Given the description of an element on the screen output the (x, y) to click on. 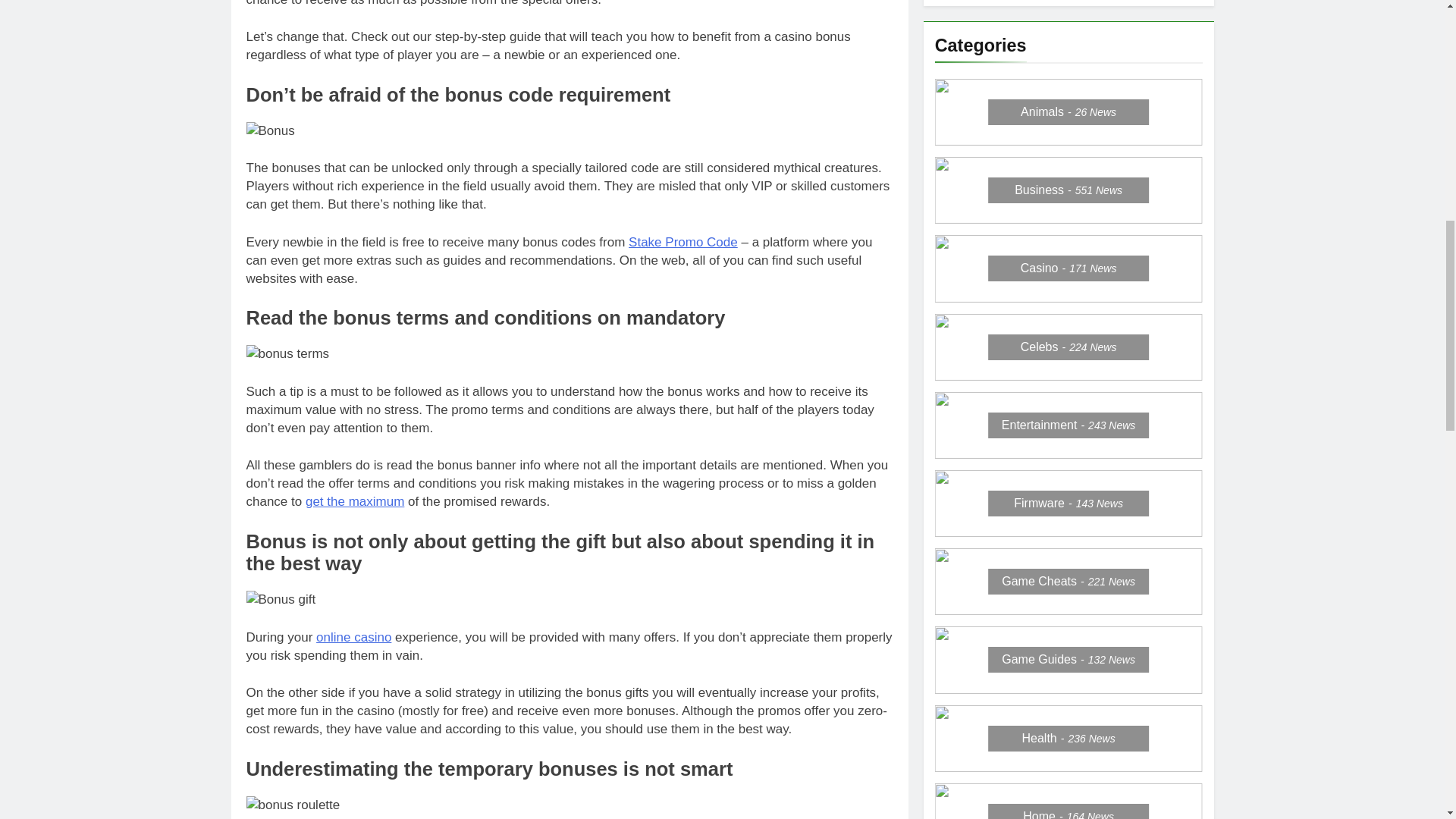
get the maximum (354, 501)
Stake Promo Code (683, 242)
online casino (353, 636)
